Given the description of an element on the screen output the (x, y) to click on. 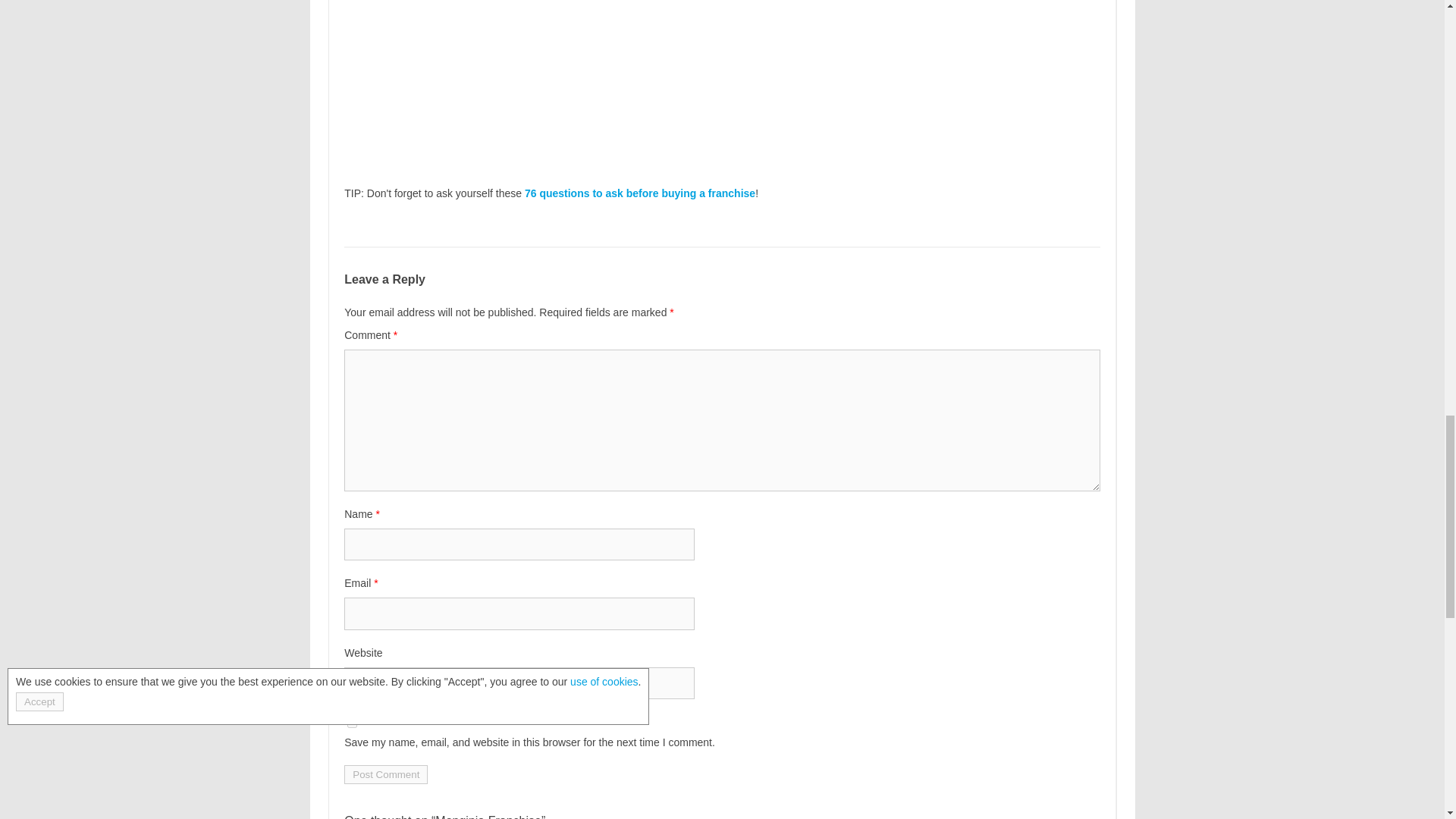
Advertisement (721, 79)
Post Comment (385, 773)
Questions to ask before buying a franchise (639, 193)
76 questions to ask before buying a franchise (639, 193)
Post Comment (385, 773)
yes (351, 723)
